Given the description of an element on the screen output the (x, y) to click on. 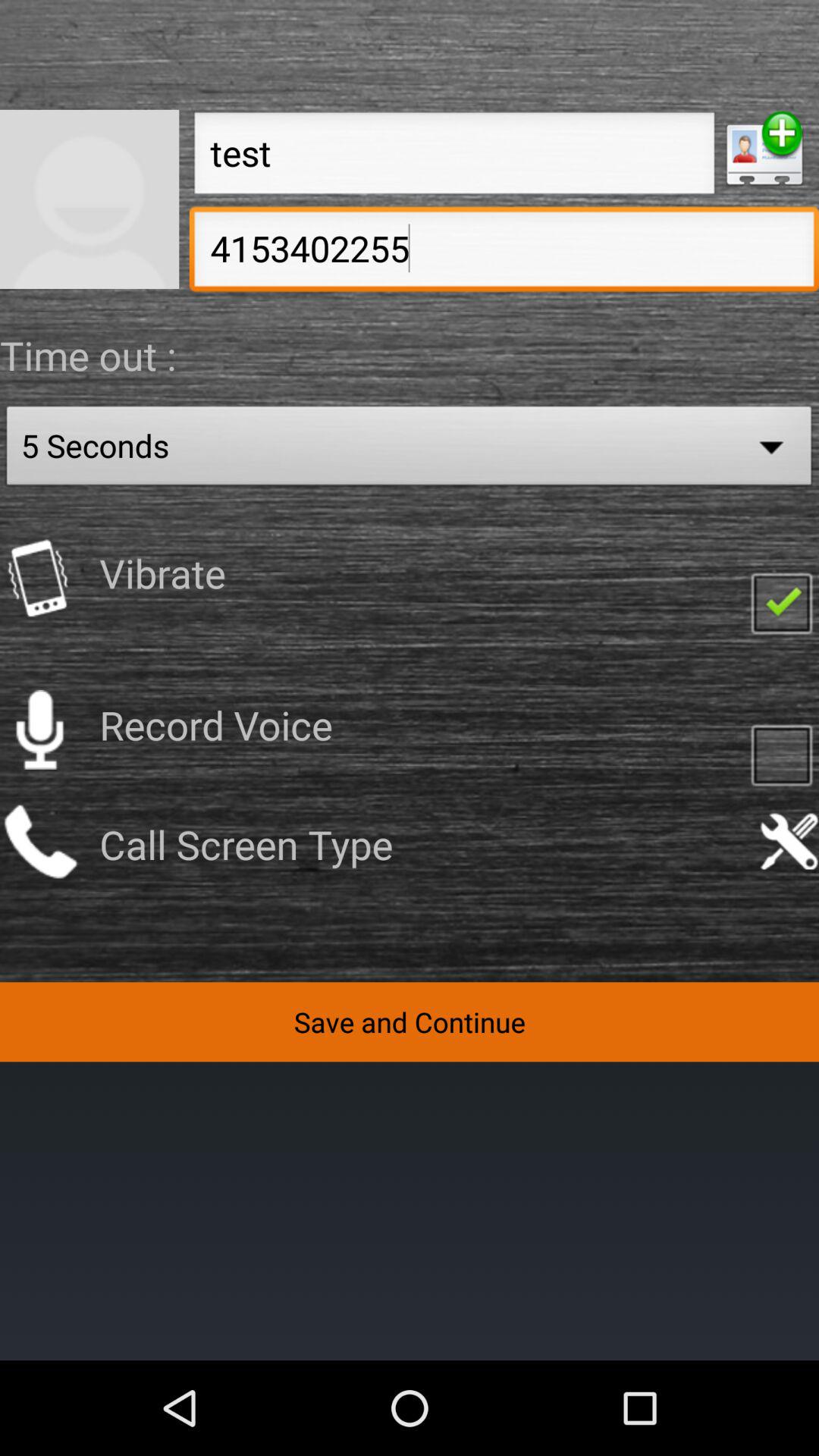
add a new profile (764, 149)
